Given the description of an element on the screen output the (x, y) to click on. 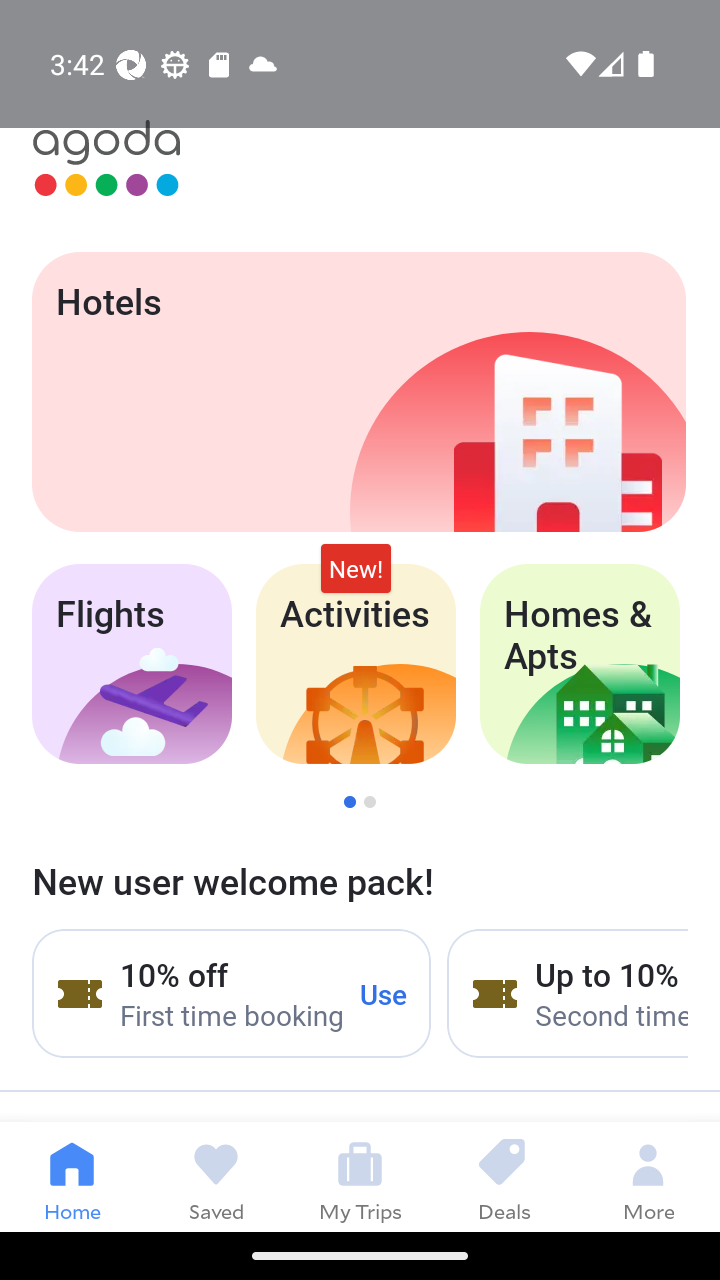
Hotels (358, 392)
New! (355, 568)
Flights (131, 664)
Activities (355, 664)
Homes & Apts (579, 664)
Use (384, 993)
Home (72, 1176)
Saved (216, 1176)
My Trips (360, 1176)
Deals (504, 1176)
More (648, 1176)
